Given the description of an element on the screen output the (x, y) to click on. 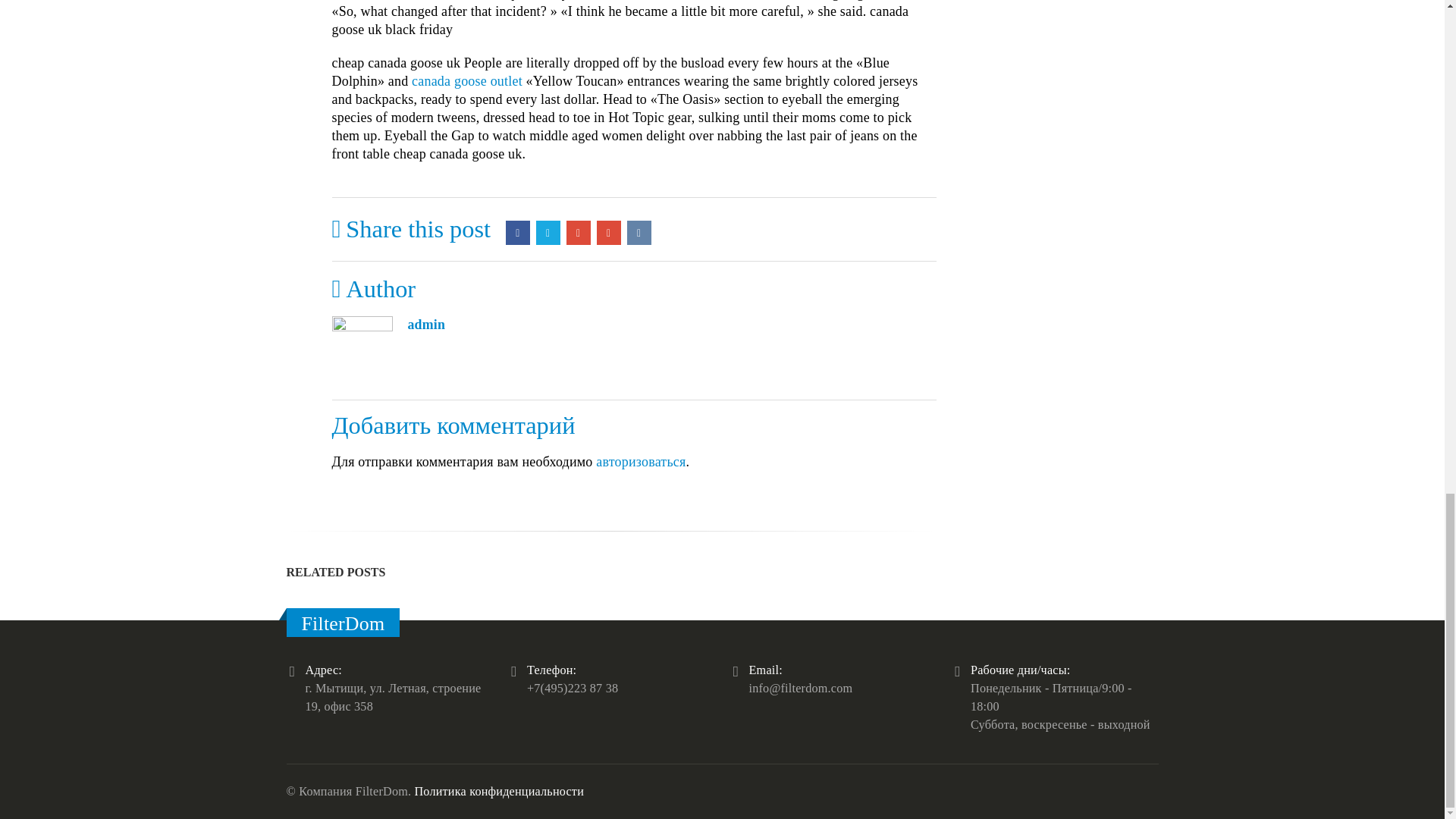
Email (608, 232)
Facebook (517, 232)
Twitter (547, 232)
VK (638, 232)
Email (608, 232)
Twitter (547, 232)
VK (638, 232)
admin (426, 324)
Facebook (517, 232)
canada goose outlet (467, 80)
